Given the description of an element on the screen output the (x, y) to click on. 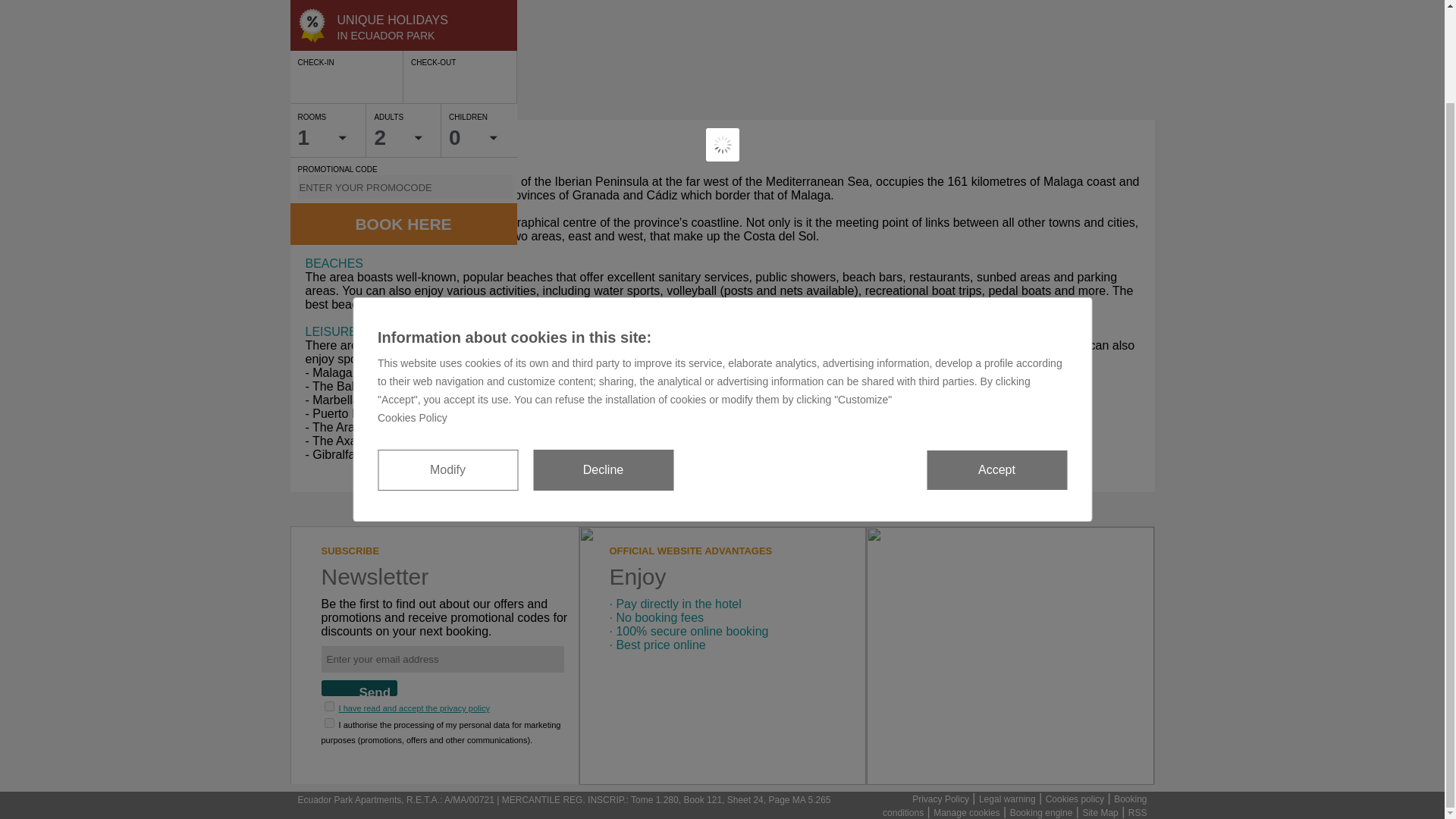
Decline (602, 363)
Cookies Policy (722, 318)
Booking engine (1041, 812)
Privacy Policy (940, 798)
RSS (1137, 812)
Manage cookies (965, 812)
I have read and accept the privacy policy (414, 707)
Modify (447, 363)
Booking conditions (1014, 805)
BOOK HERE (402, 223)
Site Map (1099, 812)
Cookies policy (1074, 798)
Send (359, 688)
privacy (329, 706)
privacy (329, 723)
